Given the description of an element on the screen output the (x, y) to click on. 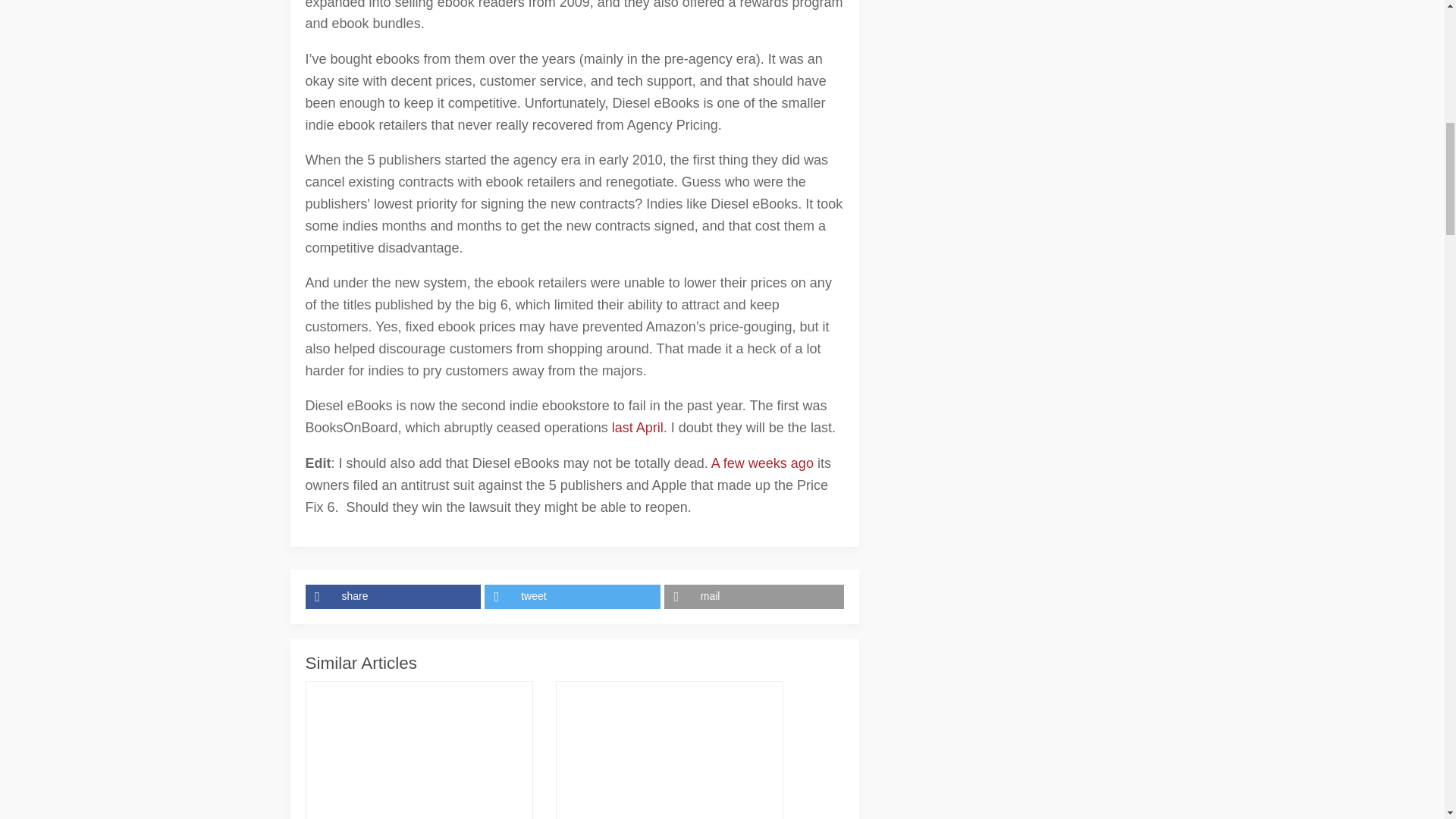
A few weeks ago (762, 462)
last April (637, 427)
Tolino Alliance Adds Two German Booksellers to its Ranks (418, 755)
mail (753, 596)
tweet (573, 596)
share (394, 596)
